Given the description of an element on the screen output the (x, y) to click on. 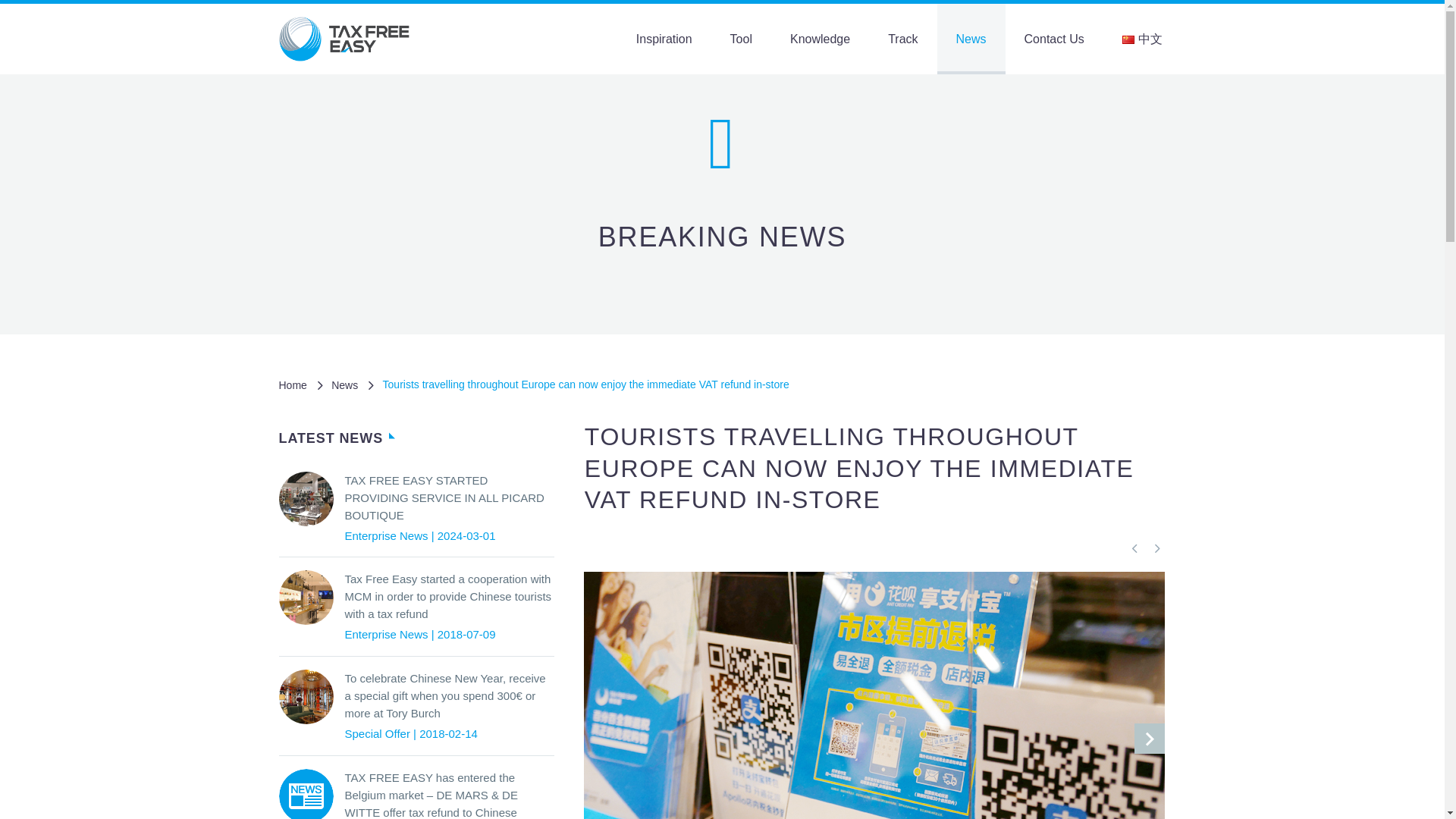
Track (902, 39)
TAX FREE EASY (349, 37)
Knowledge (820, 39)
Home (293, 385)
News (344, 385)
Inspiration (664, 39)
